Given the description of an element on the screen output the (x, y) to click on. 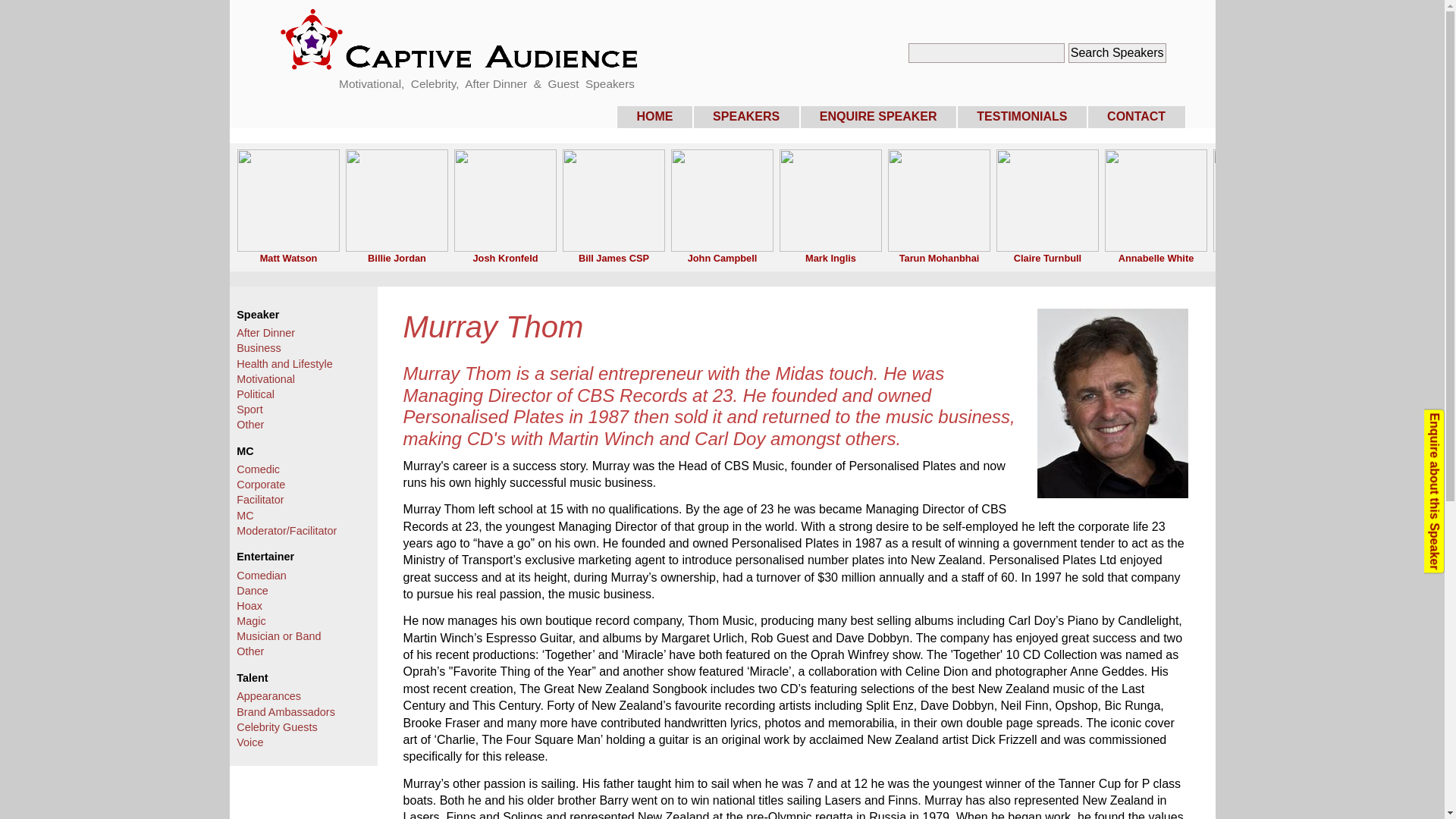
Other (249, 651)
HOME (654, 116)
Brand Ambassadors (284, 711)
Voice (249, 742)
CONTACT (1136, 116)
Facilitator (259, 499)
TESTIMONIALS (1021, 116)
Dance (251, 590)
Magic (249, 621)
Corporate (260, 484)
Search Speakers (1117, 53)
ENQUIRE SPEAKER (877, 116)
Business (258, 347)
Sport (248, 409)
